Given the description of an element on the screen output the (x, y) to click on. 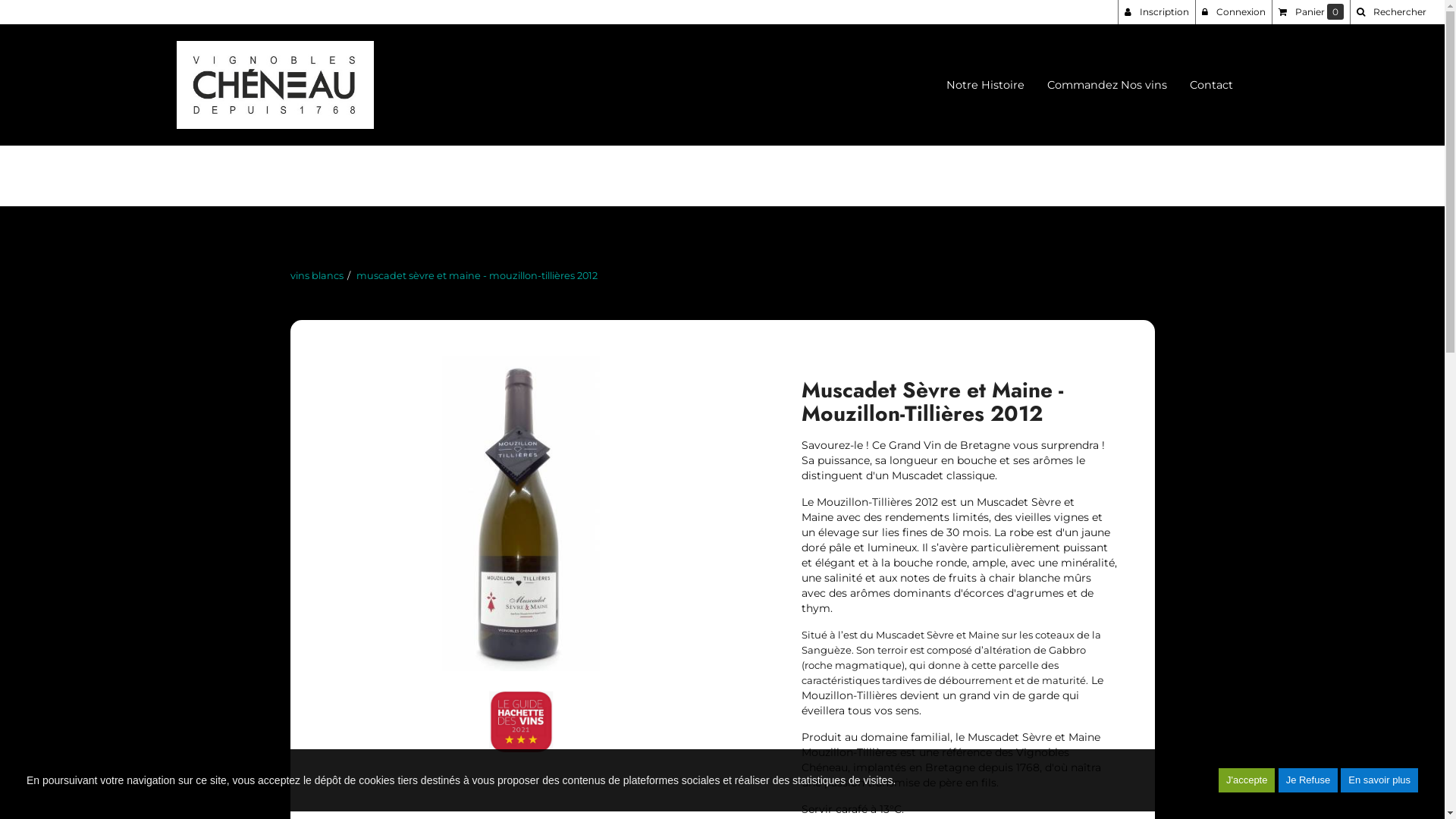
Je Refuse Element type: text (1308, 780)
En savoir plus Element type: text (1379, 780)
Notre Histoire Element type: text (984, 84)
Commandez Nos vins Element type: text (1106, 84)
Panier 0 Element type: text (1310, 12)
Rechercher Element type: text (1390, 12)
Inscription Element type: text (1156, 12)
Contact Element type: text (1211, 84)
J'accepte Element type: text (1246, 780)
Connexion Element type: text (1233, 12)
vins blancs Element type: text (315, 275)
